Given the description of an element on the screen output the (x, y) to click on. 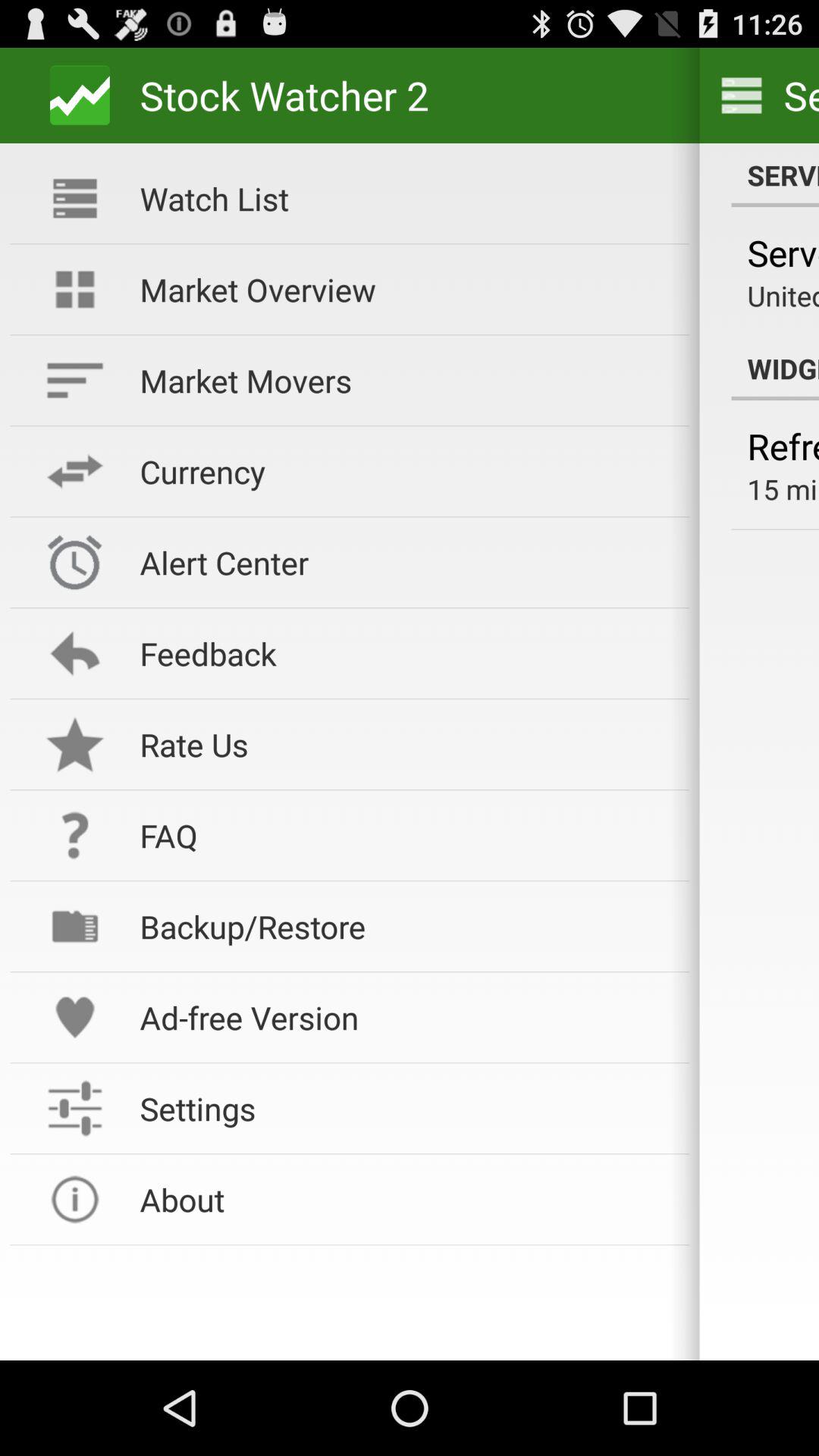
tap united states (us) (783, 295)
